Given the description of an element on the screen output the (x, y) to click on. 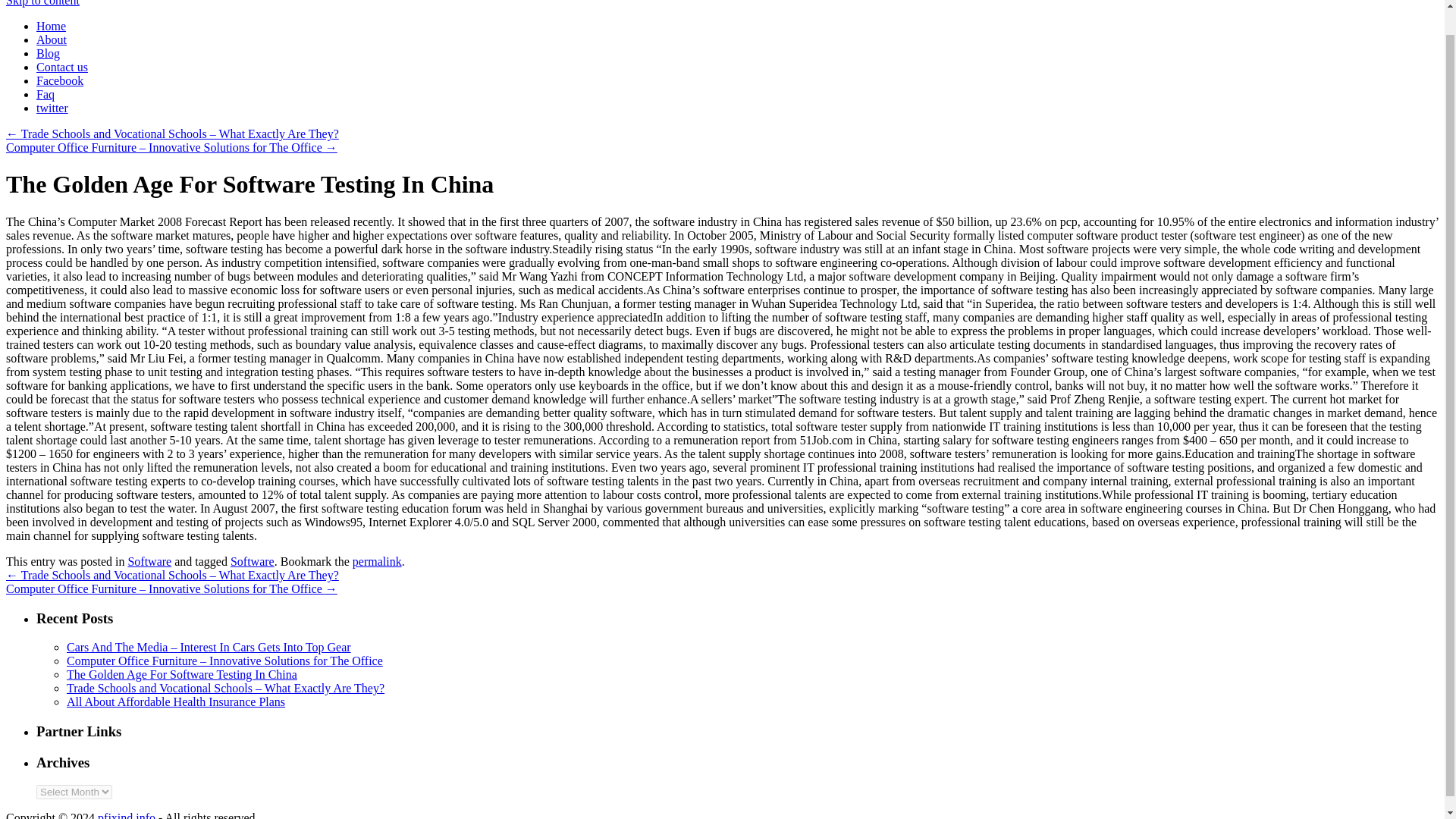
permalink (376, 561)
View all posts in Software (149, 561)
Software (252, 561)
Permalink to The Golden Age For Software Testing In China (376, 561)
Home (50, 25)
Faq (45, 93)
Skip to content (42, 3)
Contact us (61, 66)
Blog (47, 52)
All About Affordable Health Insurance Plans (175, 701)
Skip to content (42, 3)
About (51, 39)
Blog (47, 52)
Faq (45, 93)
twitter (52, 107)
